Given the description of an element on the screen output the (x, y) to click on. 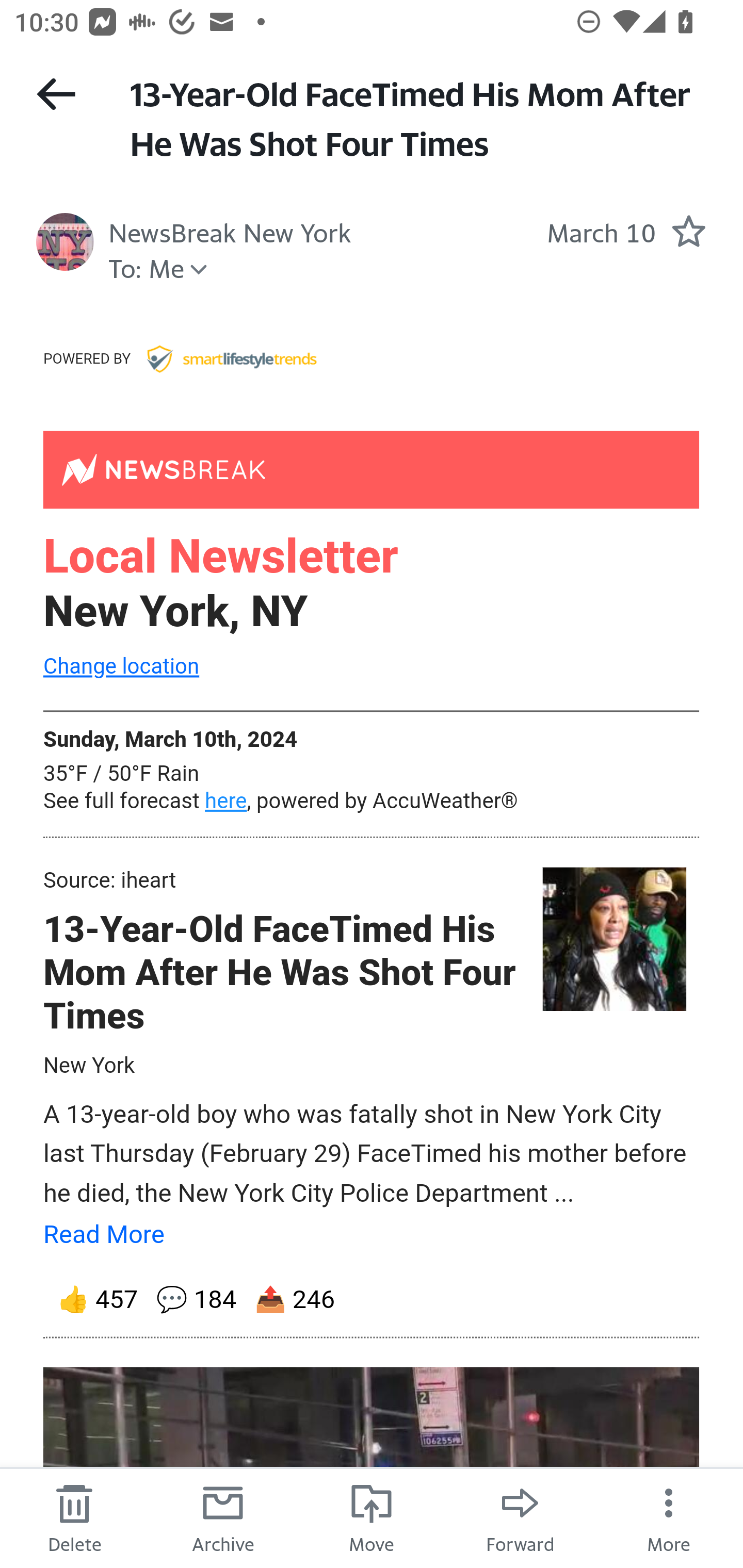
Back (55, 93)
Profile (64, 242)
NewsBreak New York Sender NewsBreak New York (230, 231)
Mark as starred. (688, 231)
info (231, 357)
NewsBreak (371, 468)
Change location (121, 666)
here (225, 800)
1 local news image (613, 939)
👍 457   💬 184   📤 246 (371, 1298)
Delete (74, 1517)
Archive (222, 1517)
Move (371, 1517)
Forward (519, 1517)
More (668, 1517)
